Given the description of an element on the screen output the (x, y) to click on. 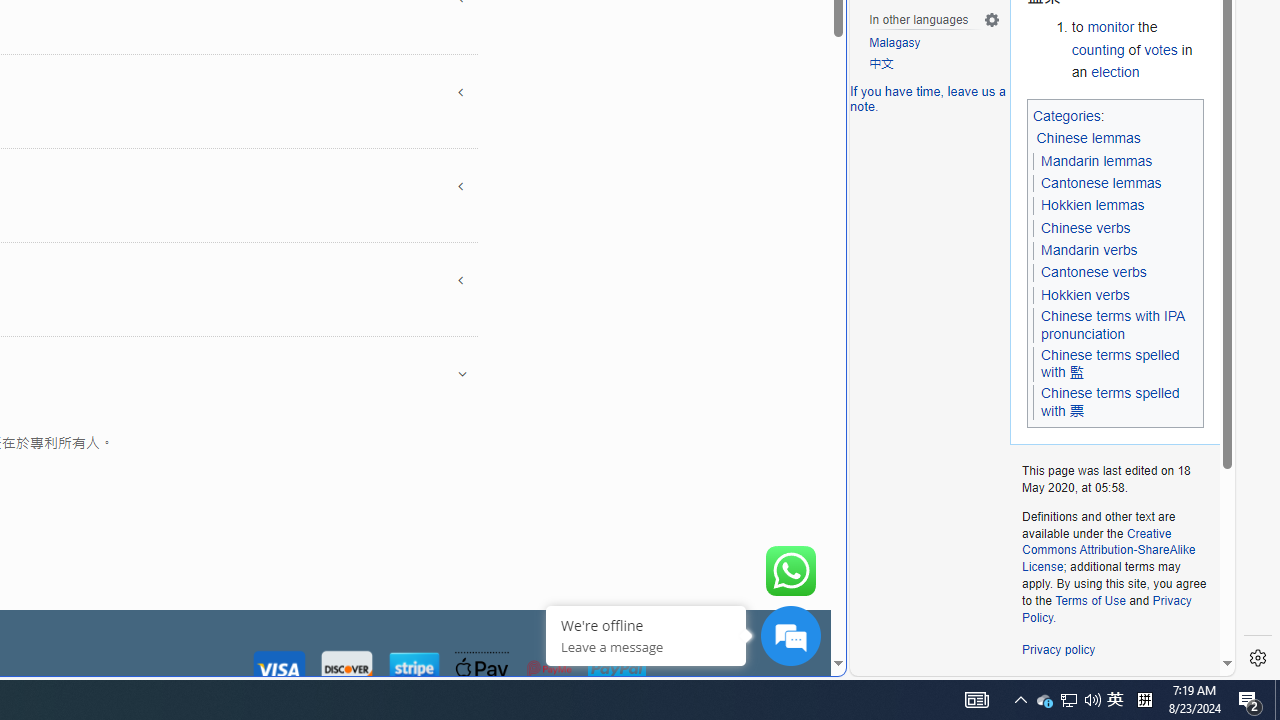
Cantonese lemmas (1101, 182)
Malagasy (895, 43)
Mandarin verbs (1088, 250)
Hokkien verbs (1084, 295)
Hokkien lemmas (1092, 205)
Creative Commons Attribution-ShareAlike License (1108, 550)
Chinese verbs (1085, 227)
